Given the description of an element on the screen output the (x, y) to click on. 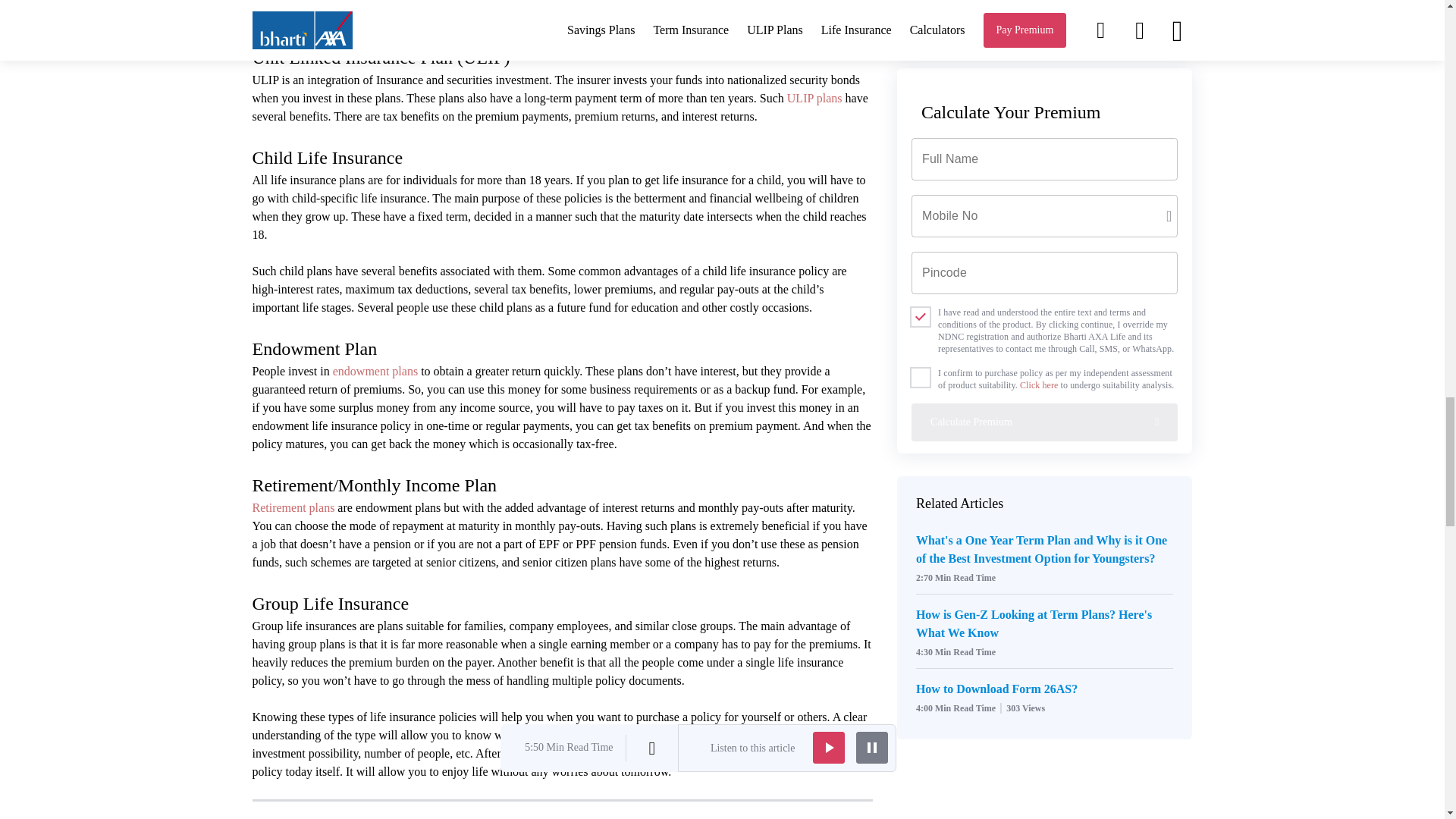
Retirement plans (292, 507)
ULIP plans (815, 97)
endowment plans (375, 370)
ULIP plans (815, 97)
endowment plans (375, 370)
